Given the description of an element on the screen output the (x, y) to click on. 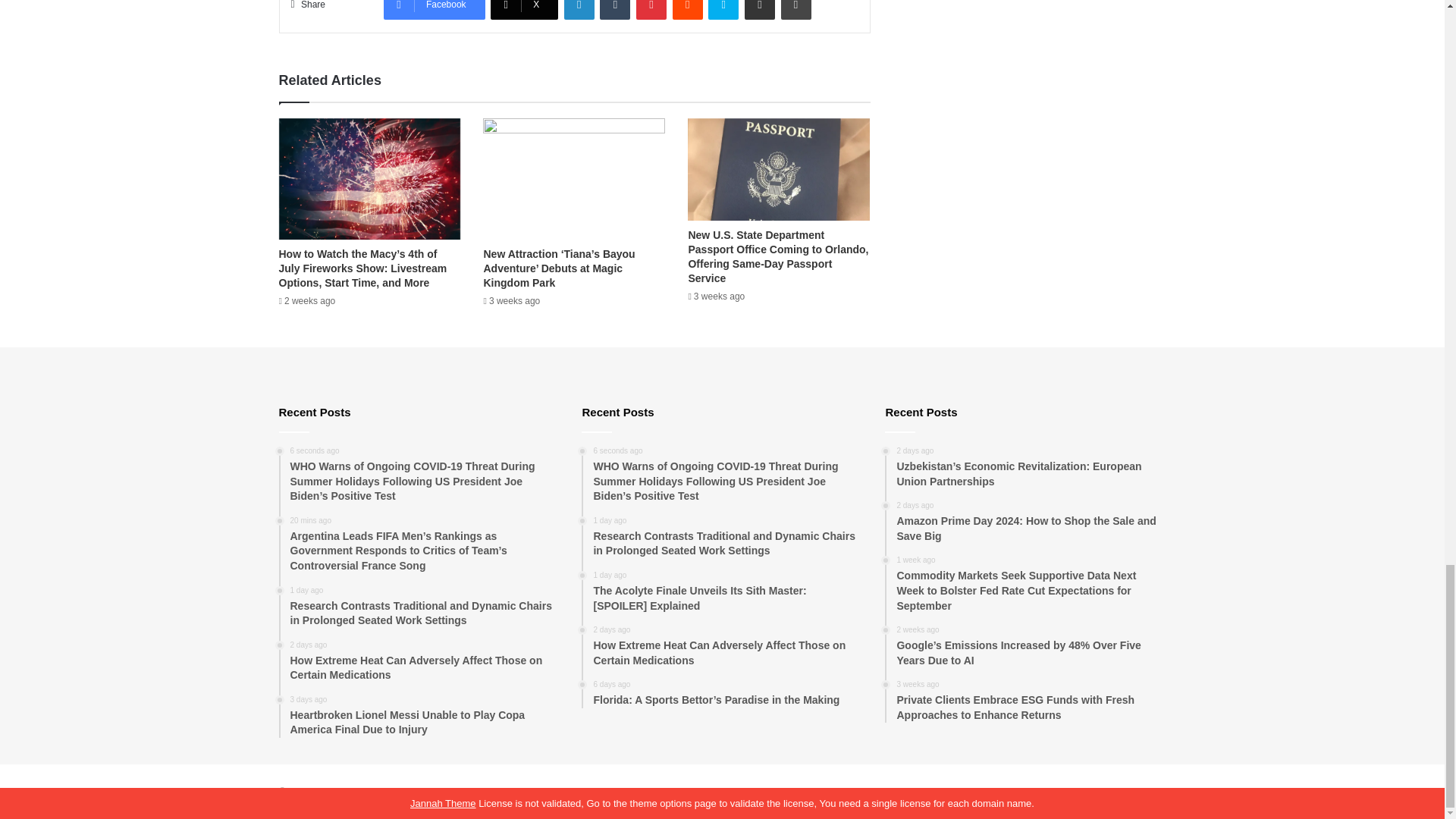
X (523, 9)
Skype (722, 9)
Share via Email (759, 9)
Pinterest (651, 9)
Print (795, 9)
Facebook (434, 9)
Tumblr (614, 9)
Pinterest (651, 9)
LinkedIn (579, 9)
LinkedIn (579, 9)
Skype (722, 9)
Tumblr (614, 9)
Reddit (687, 9)
Share via Email (759, 9)
Reddit (687, 9)
